Given the description of an element on the screen output the (x, y) to click on. 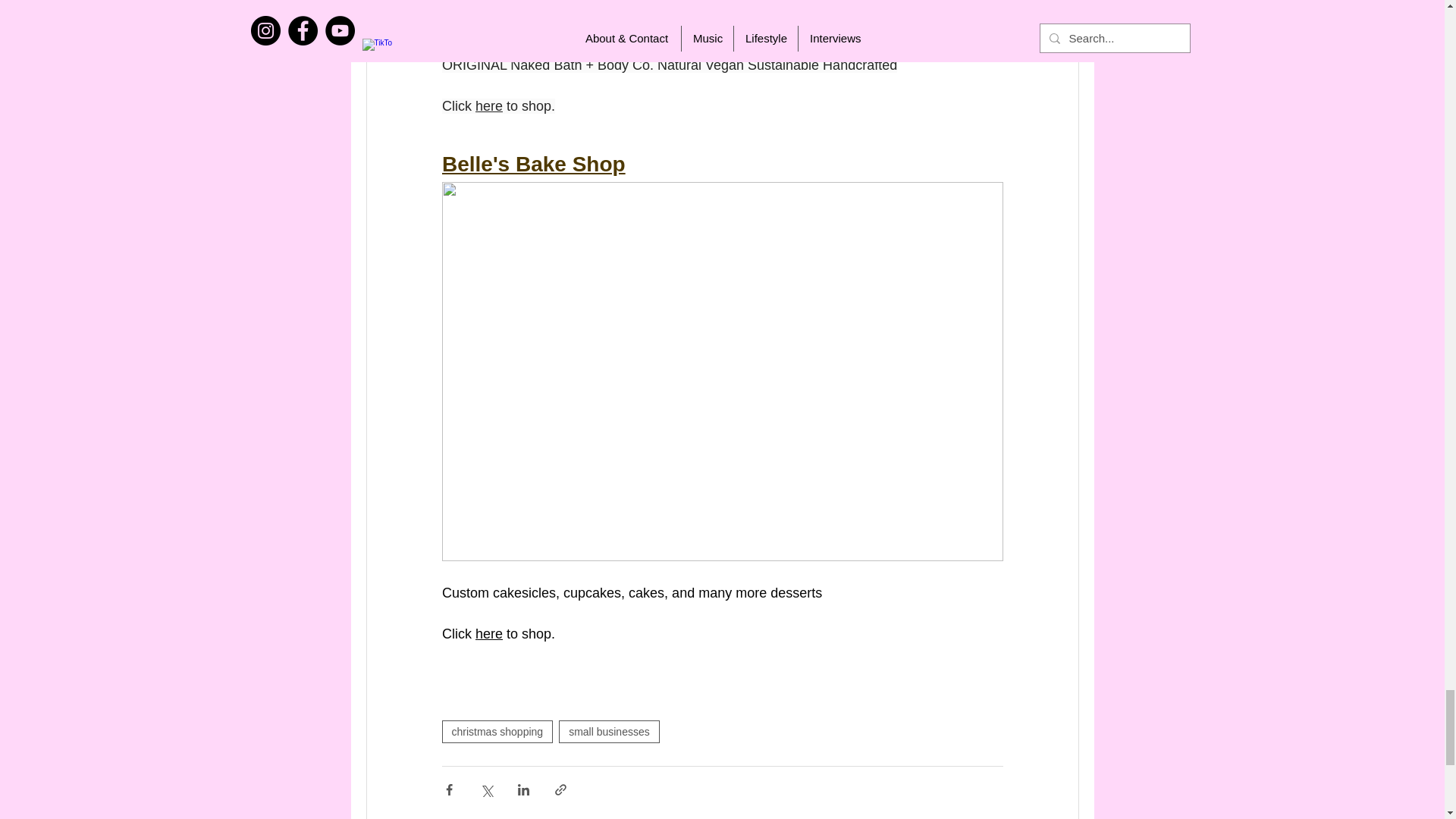
small businesses (609, 731)
here (488, 633)
christmas shopping (497, 731)
here (488, 105)
